Given the description of an element on the screen output the (x, y) to click on. 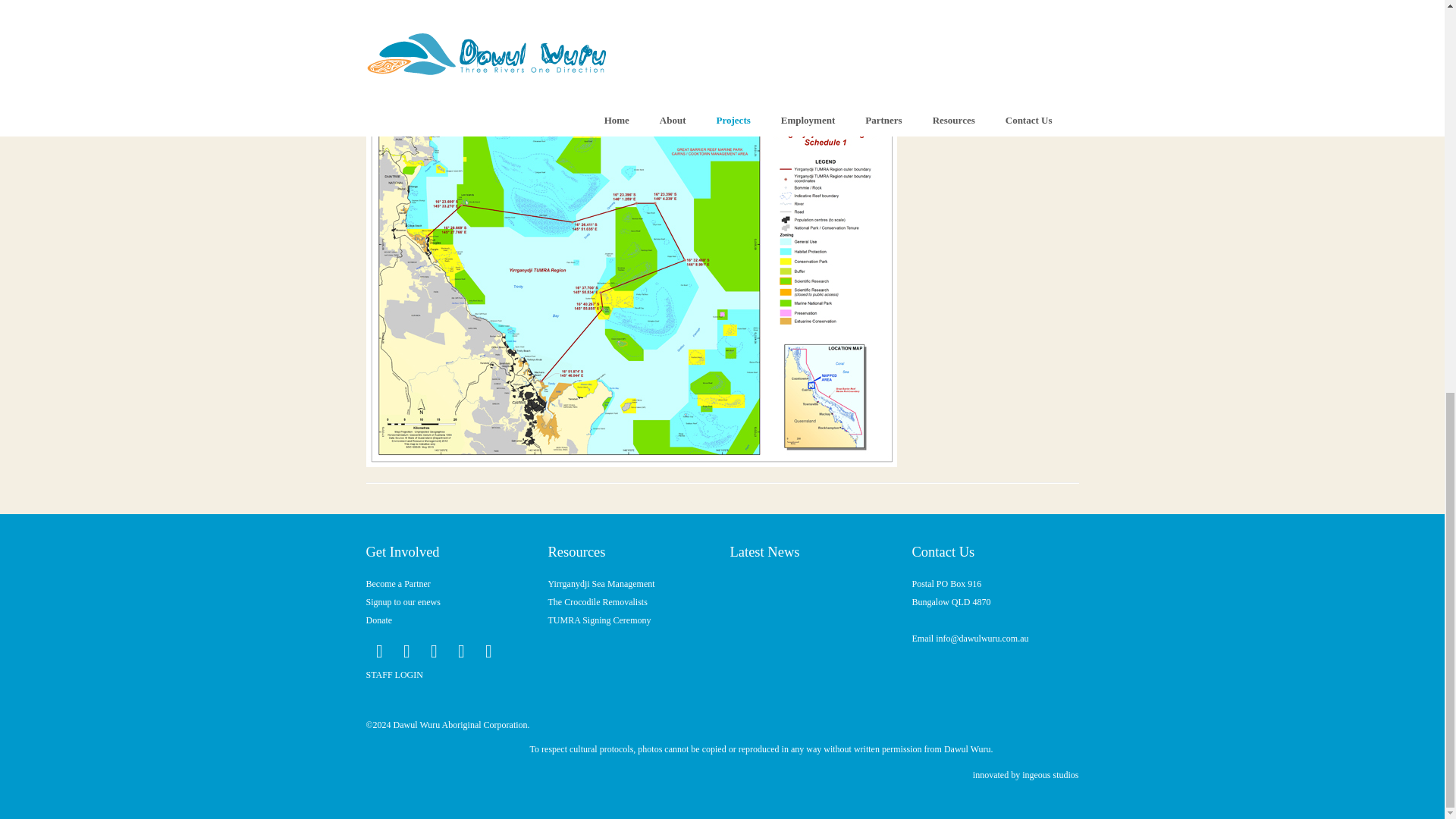
Facebook (379, 651)
STAFF LOGIN (393, 674)
The Crocodile Removalists (596, 602)
Resources (600, 583)
Twitter (406, 651)
LinkedIn (460, 651)
ingeous studios (1050, 774)
TUMRA Signing Ceremony (598, 620)
Yirrganydji Sea Management (600, 583)
Become a Partner (397, 583)
Google Plus (433, 651)
YouTube (488, 651)
Galleries (598, 620)
Contact Us (1002, 73)
Crocodile Management (596, 602)
